Given the description of an element on the screen output the (x, y) to click on. 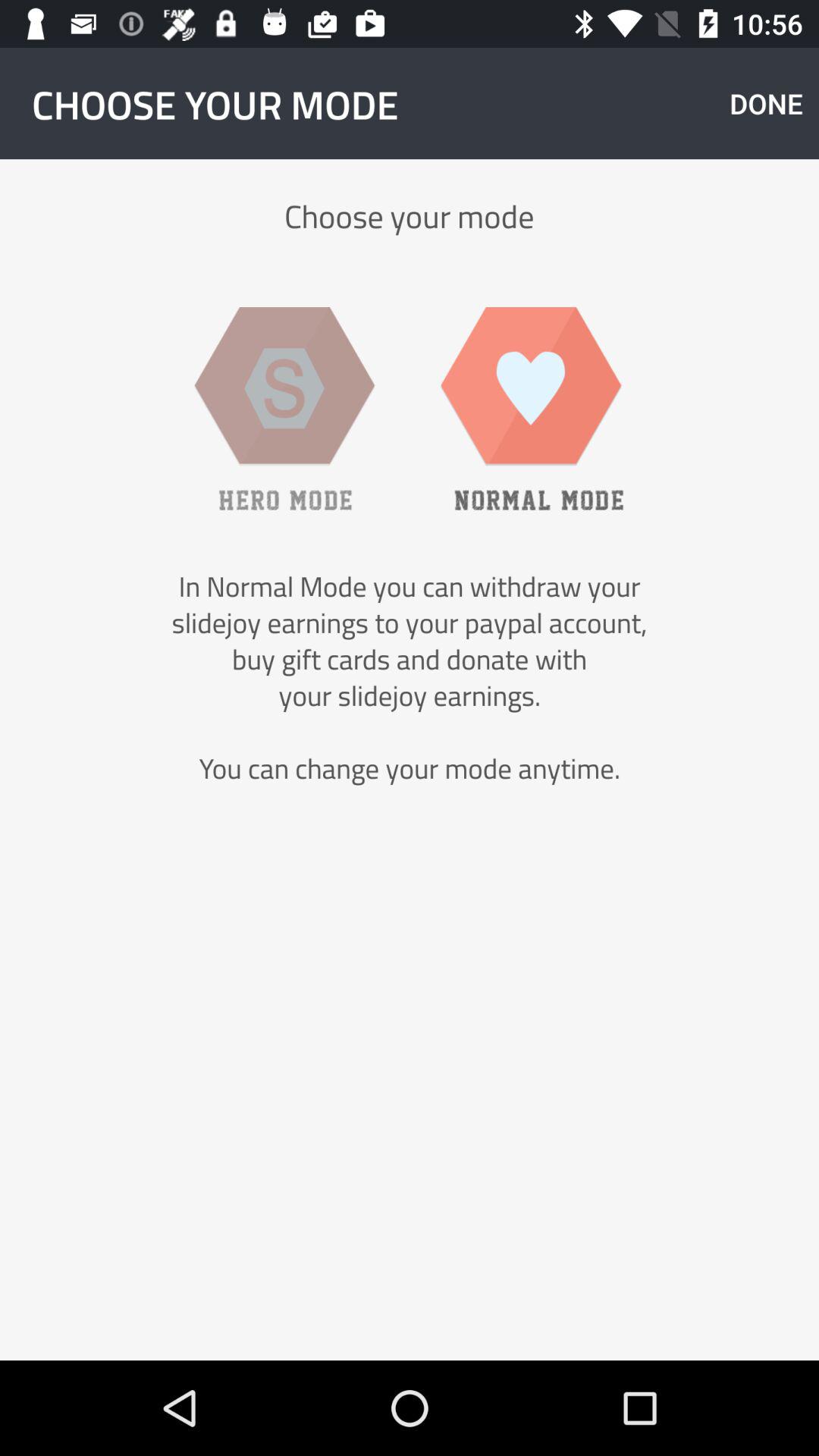
choose hero mode (284, 408)
